Given the description of an element on the screen output the (x, y) to click on. 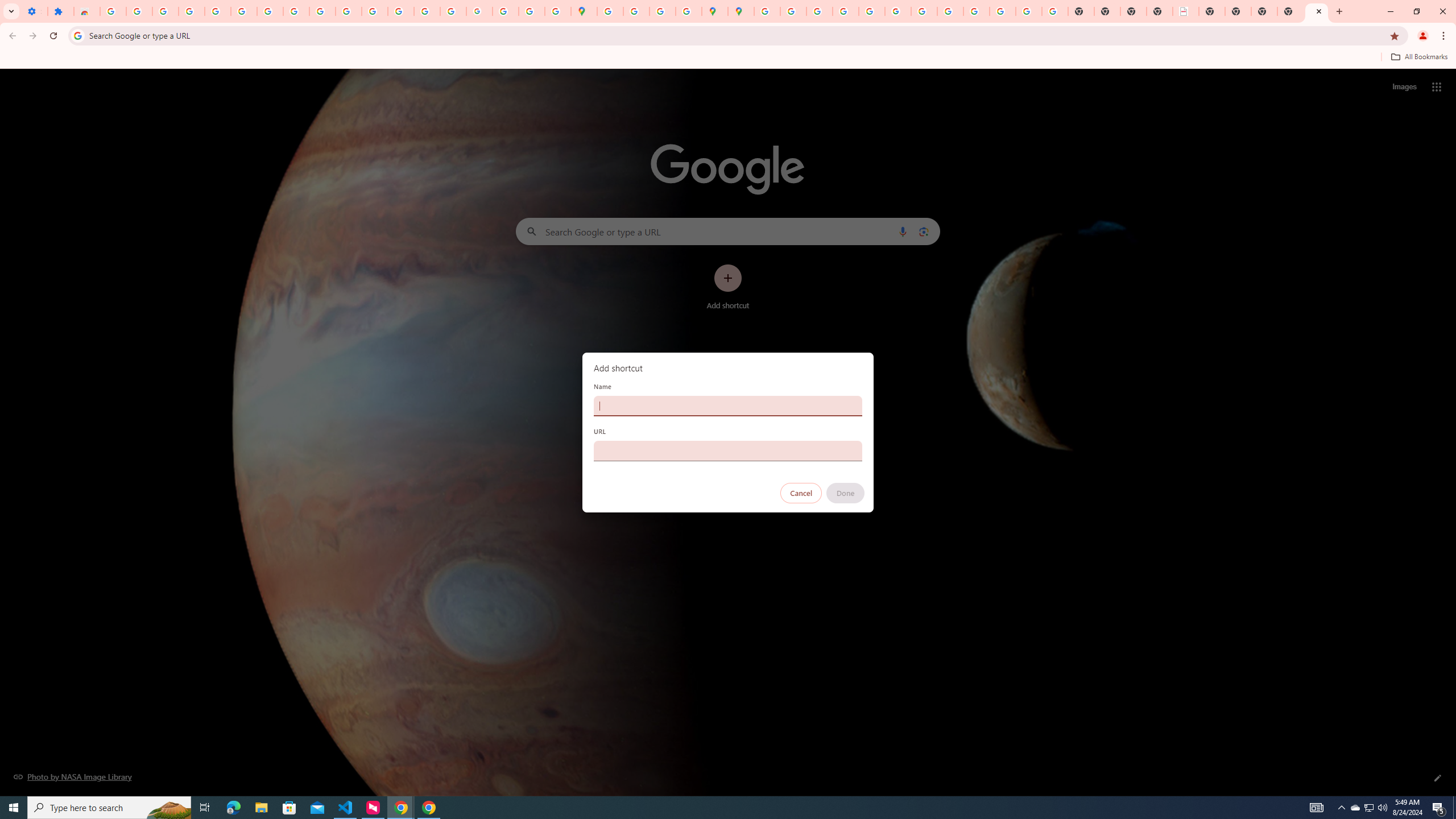
Settings - On startup (34, 11)
Google Account (296, 11)
Cancel (801, 493)
